Given the description of an element on the screen output the (x, y) to click on. 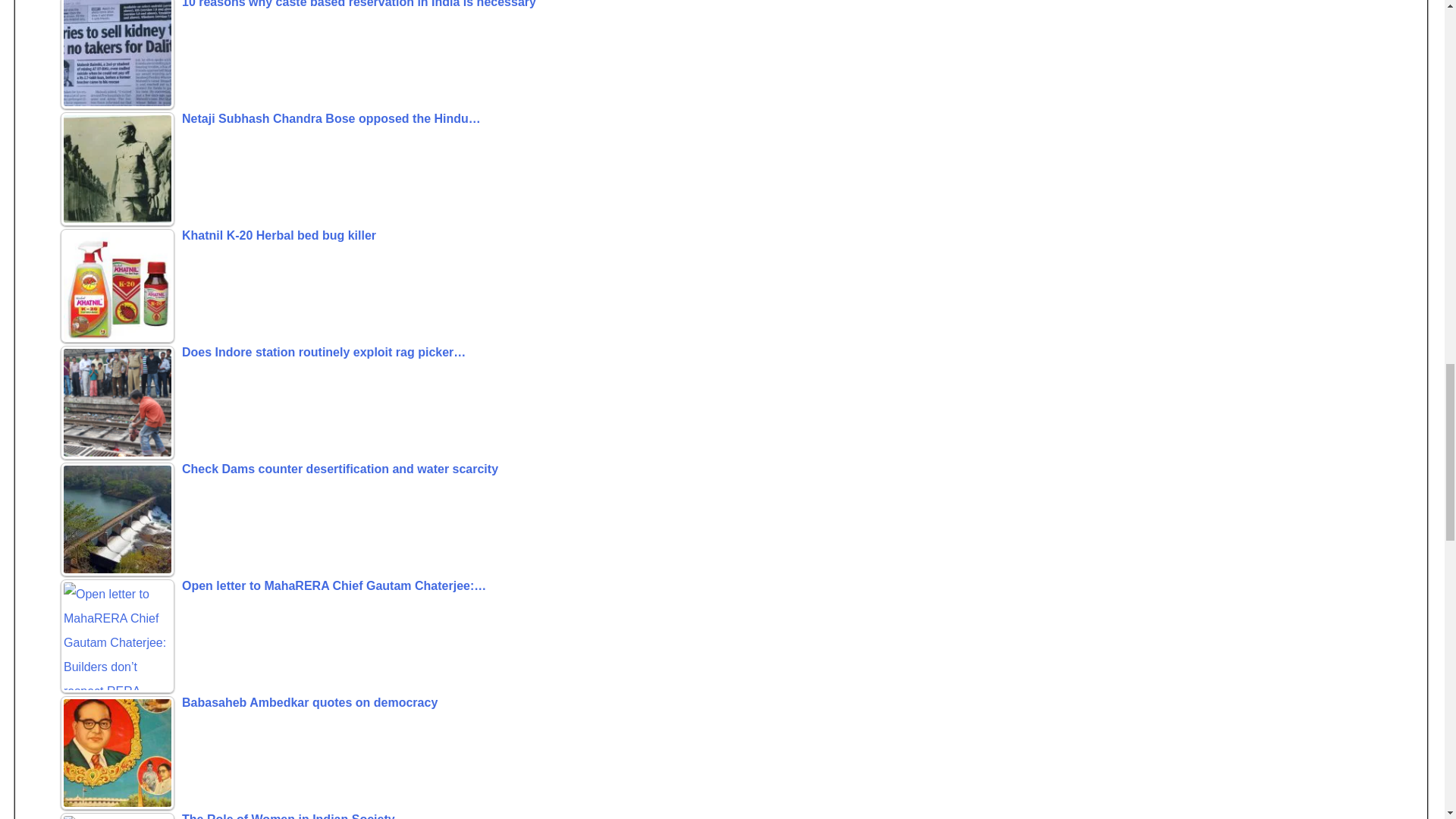
10 reasons why caste based reservation in India is necessary (117, 54)
Khatnil K-20 Herbal bed bug killer (117, 286)
Check Dams counter desertification and water scarcity (117, 519)
Khatnil K-20 Herbal bed bug killer (744, 237)
Check Dams counter desertification and water scarcity (744, 470)
Babasaheb Ambedkar quotes on democracy (744, 704)
